Given the description of an element on the screen output the (x, y) to click on. 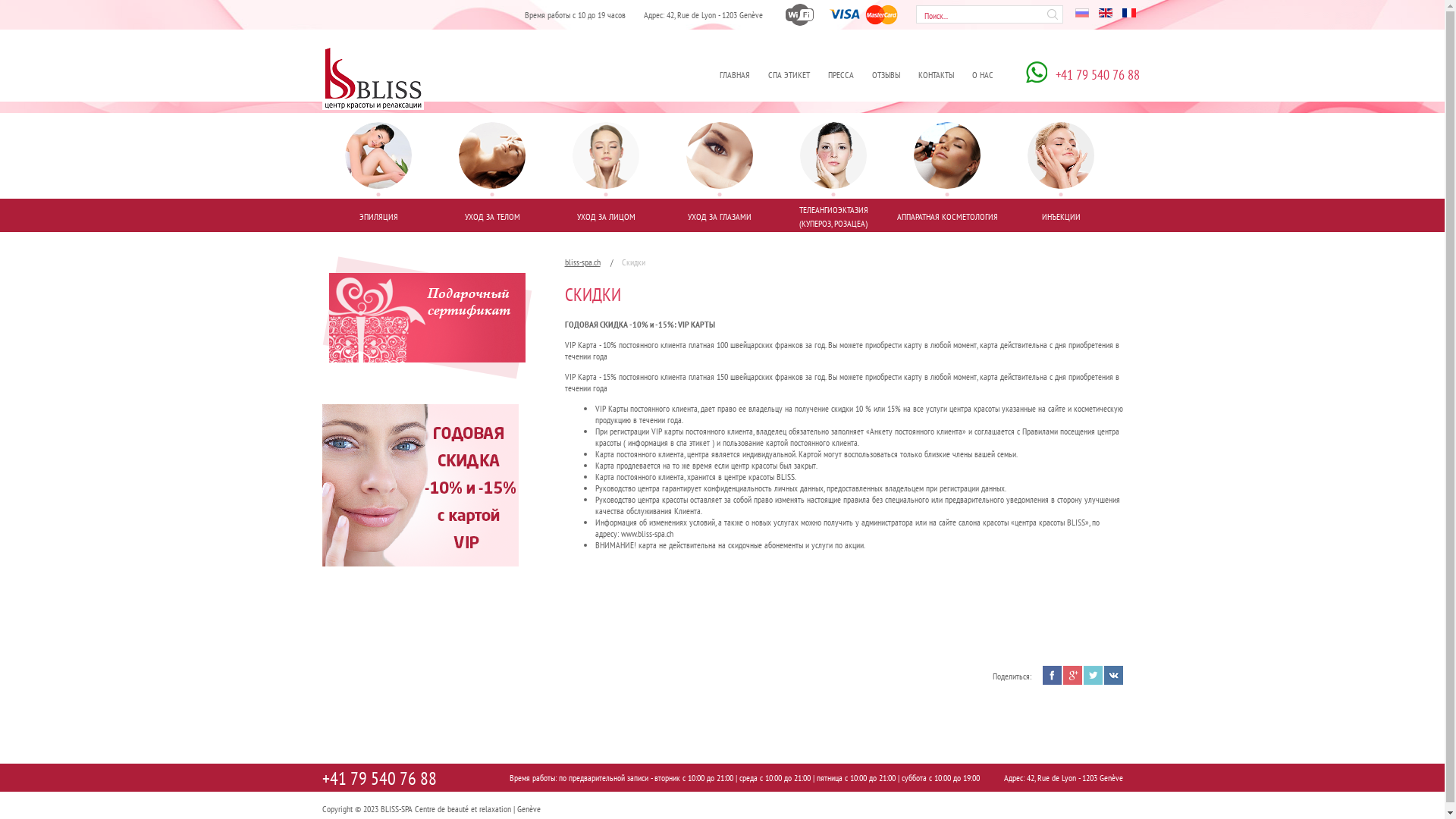
+41 79 540 76 88 Element type: text (378, 778)
English (UK) Element type: hover (1104, 12)
+41 79 540 76 88 Element type: text (1082, 74)
bliss-spa.ch Element type: text (588, 261)
French Element type: hover (1128, 12)
